Given the description of an element on the screen output the (x, y) to click on. 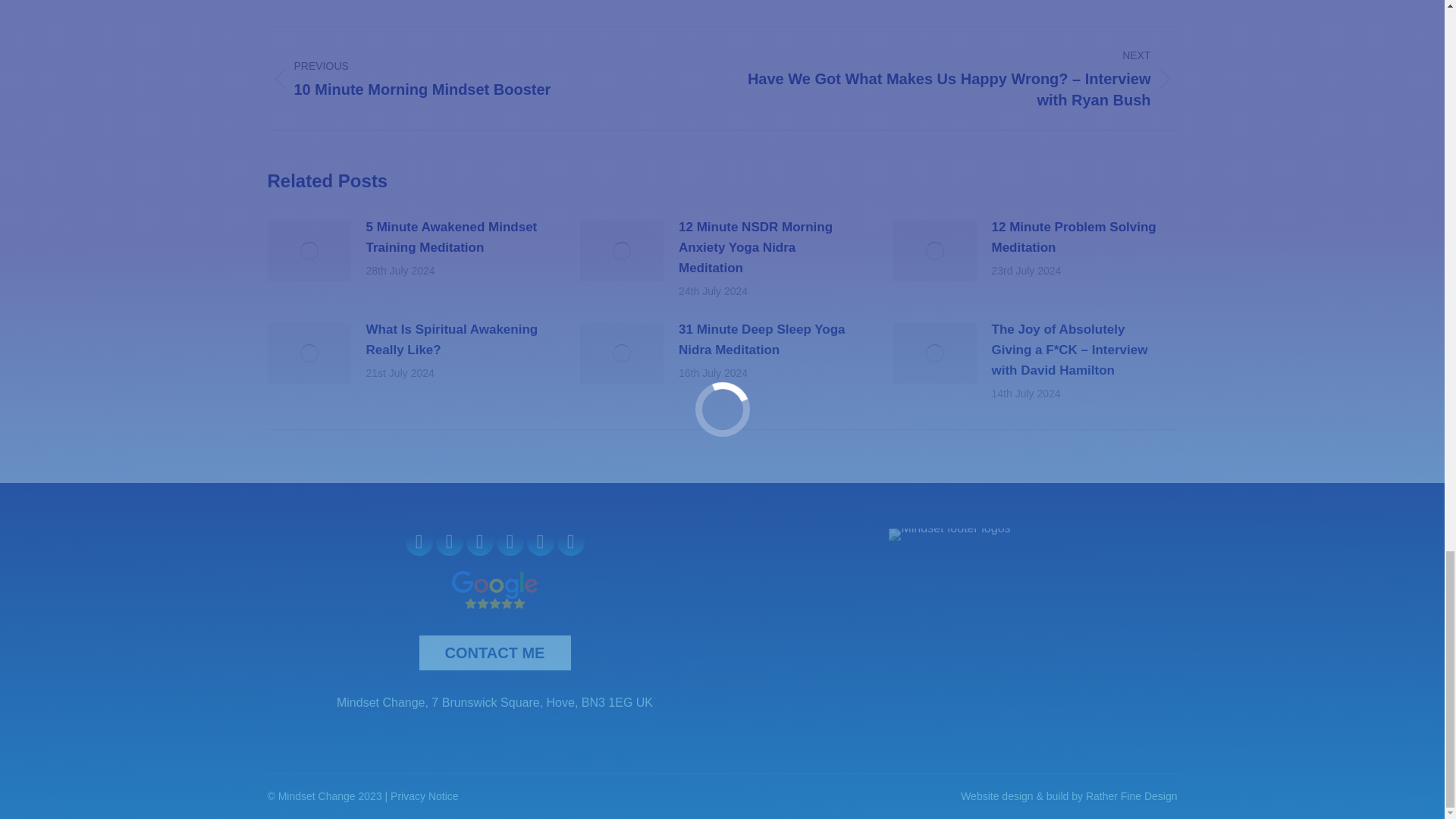
You Tube (482, 77)
LinkedIn (509, 542)
5 Minute Awakened Mindset Training Meditation (449, 542)
Instagram (453, 237)
Podcast (479, 542)
facebook (539, 542)
